Given the description of an element on the screen output the (x, y) to click on. 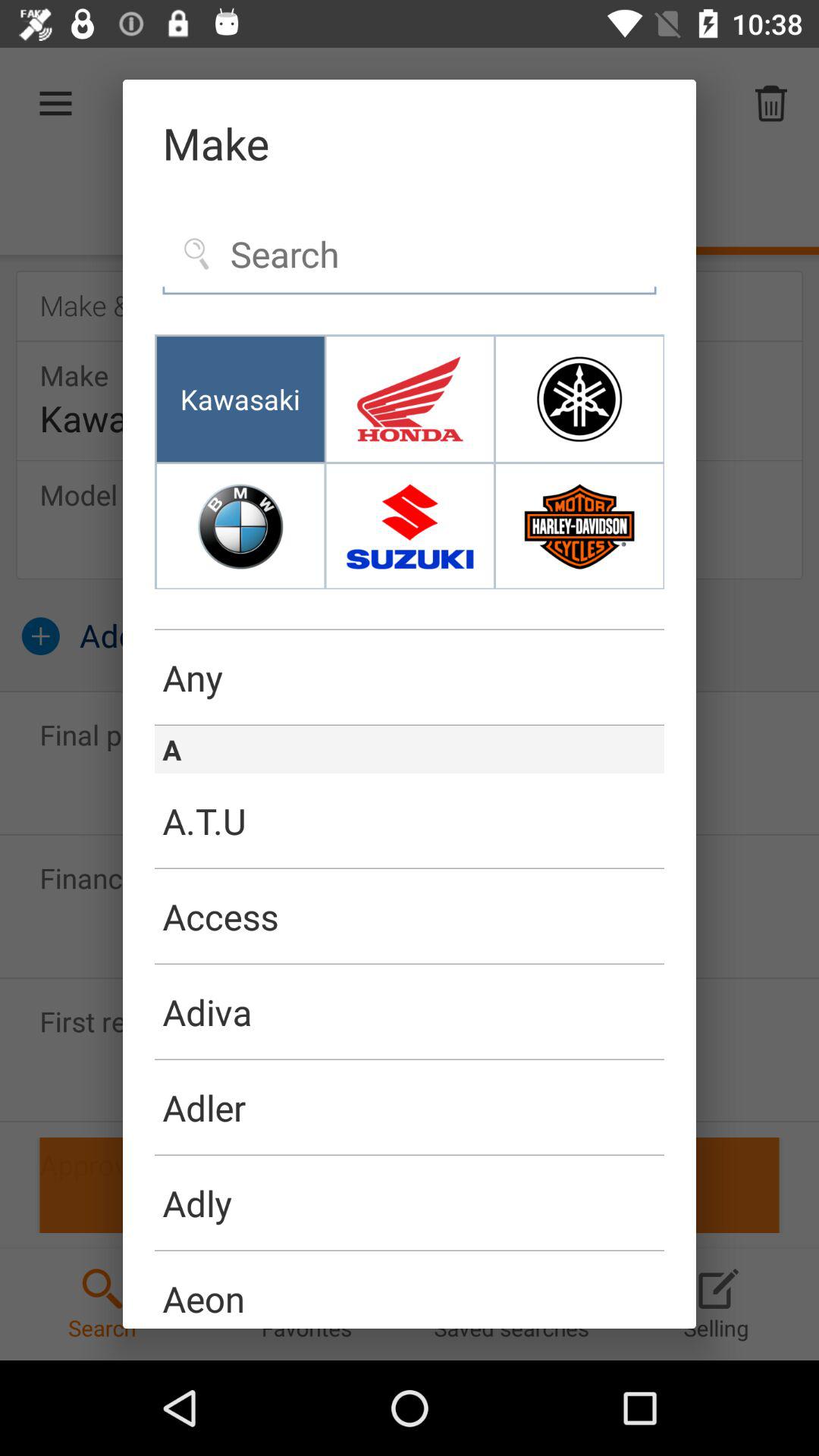
swipe to adler item (409, 1107)
